Given the description of an element on the screen output the (x, y) to click on. 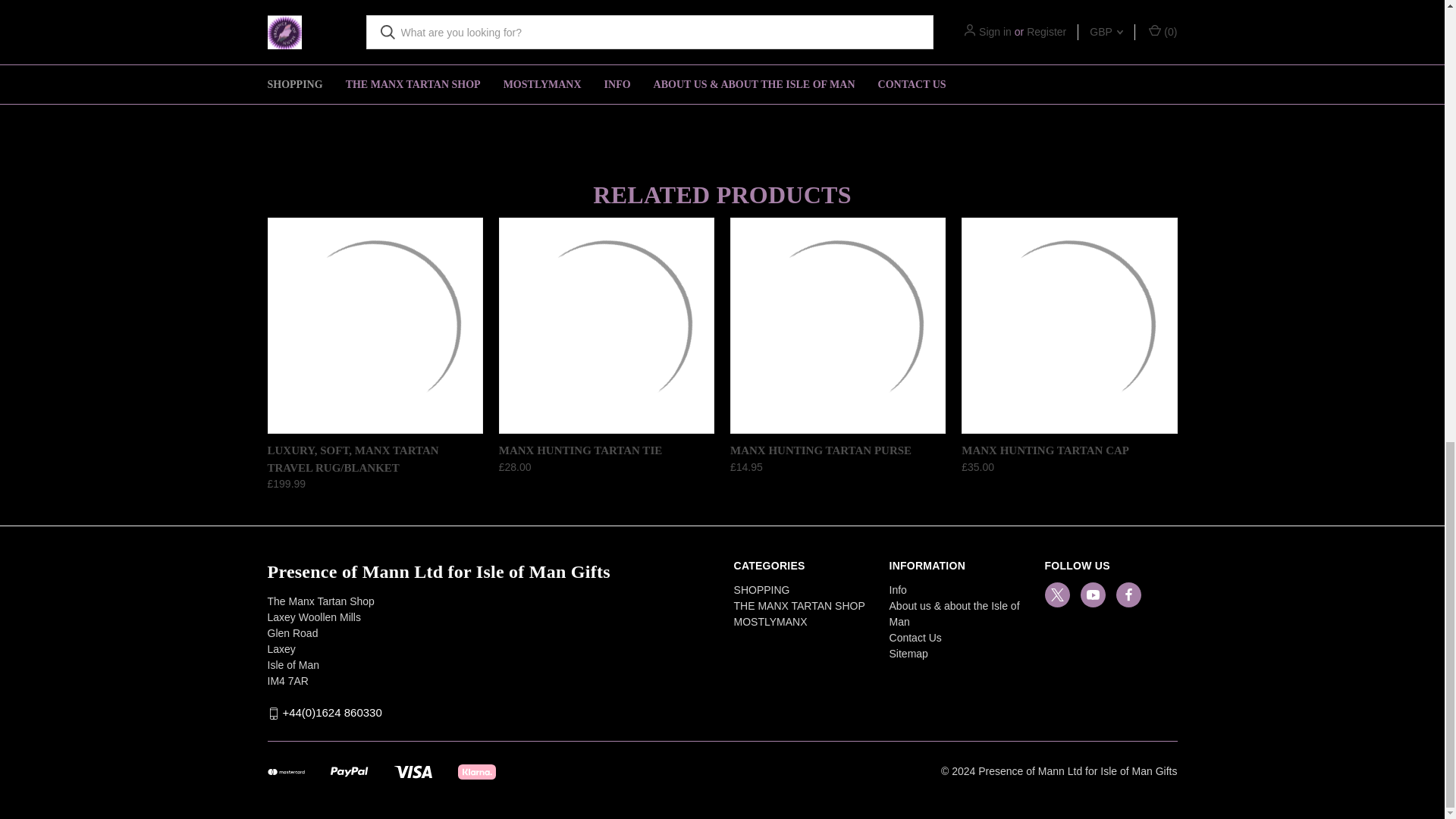
Isle of Man hunting tartan tie (606, 325)
Manx Hunting Tartan Cap (1068, 325)
Laxey Manx Tartan Travel Rug (374, 325)
Manx Hunting Tartan  Purse (837, 325)
